Given the description of an element on the screen output the (x, y) to click on. 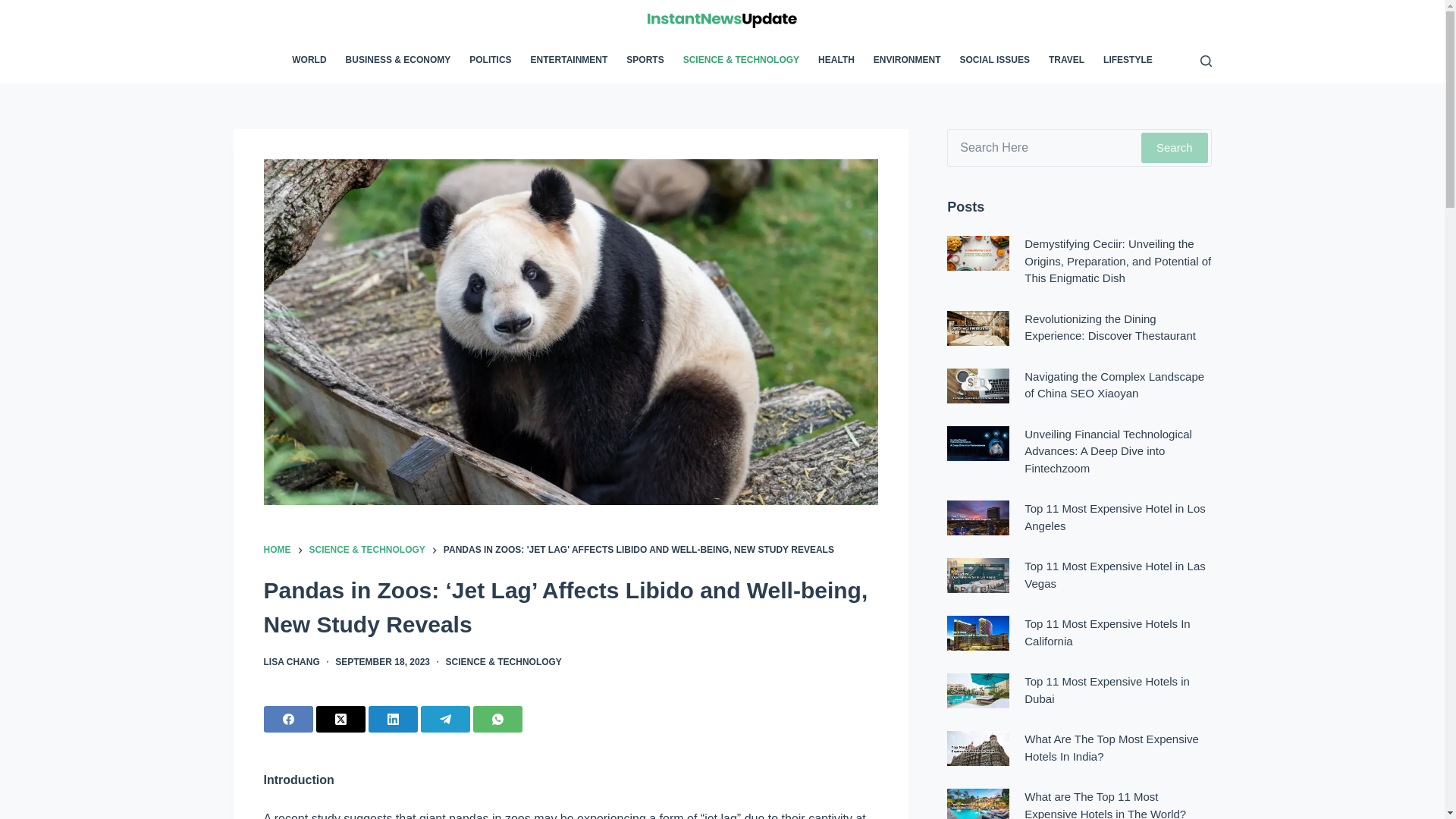
ENTERTAINMENT (569, 60)
Posts by Lisa Chang (291, 661)
TRAVEL (1066, 60)
HOME (277, 549)
LIFESTYLE (1123, 60)
WORLD (314, 60)
POLITICS (490, 60)
HEALTH (836, 60)
Skip to content (15, 7)
LISA CHANG (291, 661)
SPORTS (644, 60)
SOCIAL ISSUES (994, 60)
ENVIRONMENT (906, 60)
